Given the description of an element on the screen output the (x, y) to click on. 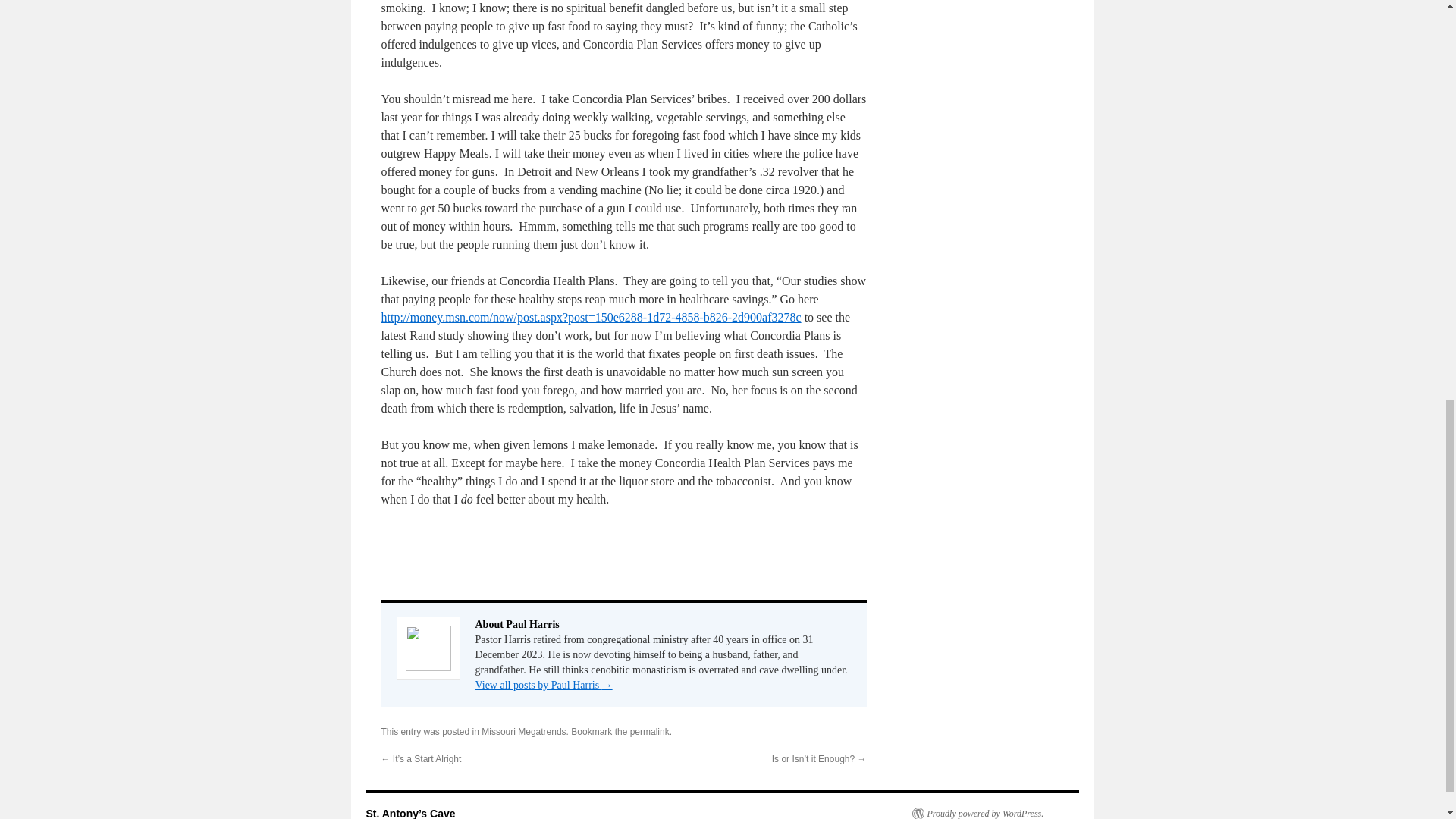
Missouri Megatrends (523, 731)
Permalink to Better Health Poorer Christianity (649, 731)
permalink (649, 731)
